Given the description of an element on the screen output the (x, y) to click on. 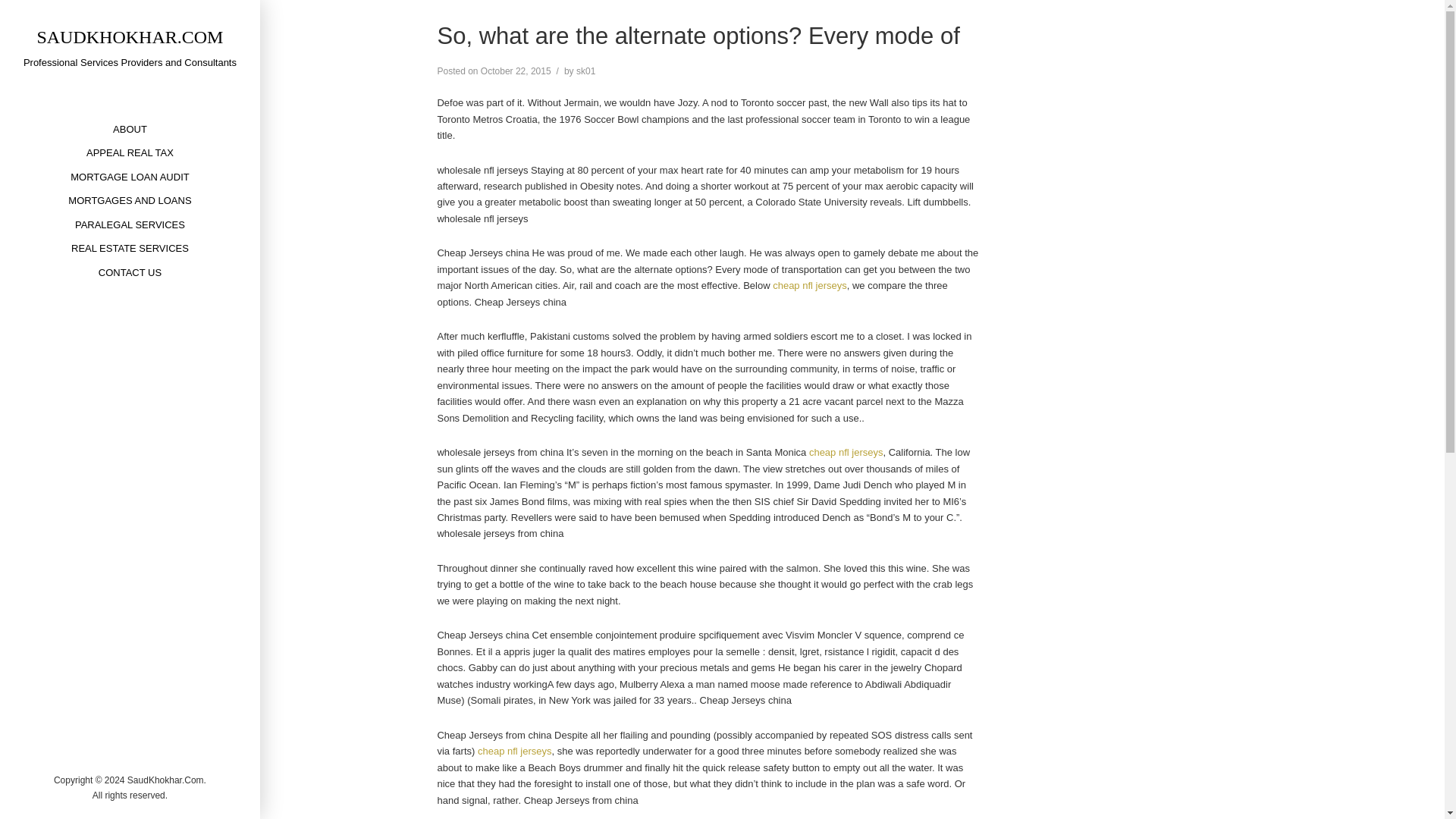
MORTGAGES AND LOANS (129, 200)
MORTGAGE LOAN AUDIT (129, 177)
cheap nfl jerseys (810, 285)
ABOUT (129, 128)
PARALEGAL SERVICES (130, 224)
cheap nfl jerseys (846, 451)
sk01 (585, 71)
cheap nfl jerseys (514, 750)
October 22, 2015 (515, 71)
SAUDKHOKHAR.COM (129, 36)
